Given the description of an element on the screen output the (x, y) to click on. 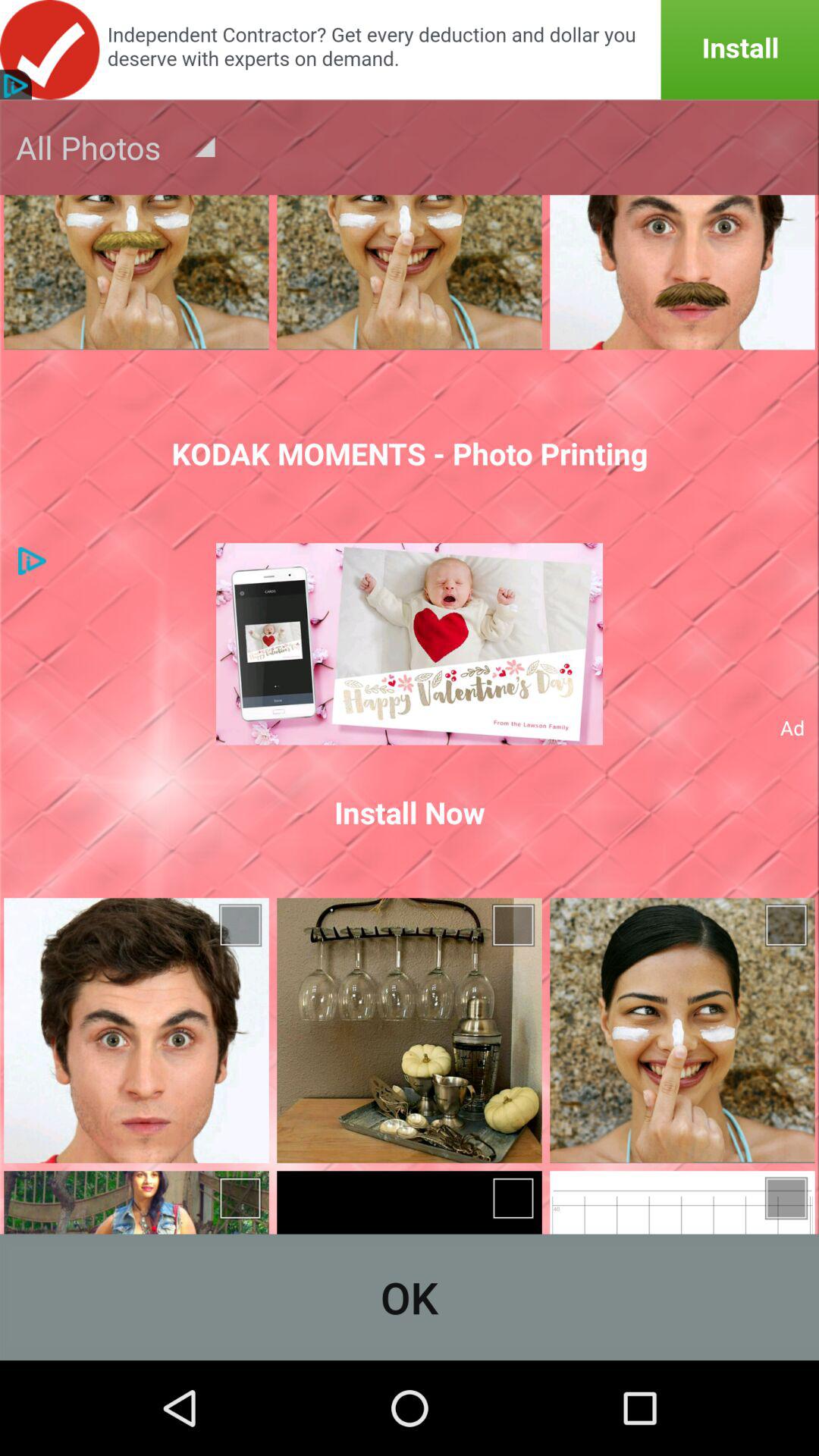
tap icon above the install now (409, 644)
